Given the description of an element on the screen output the (x, y) to click on. 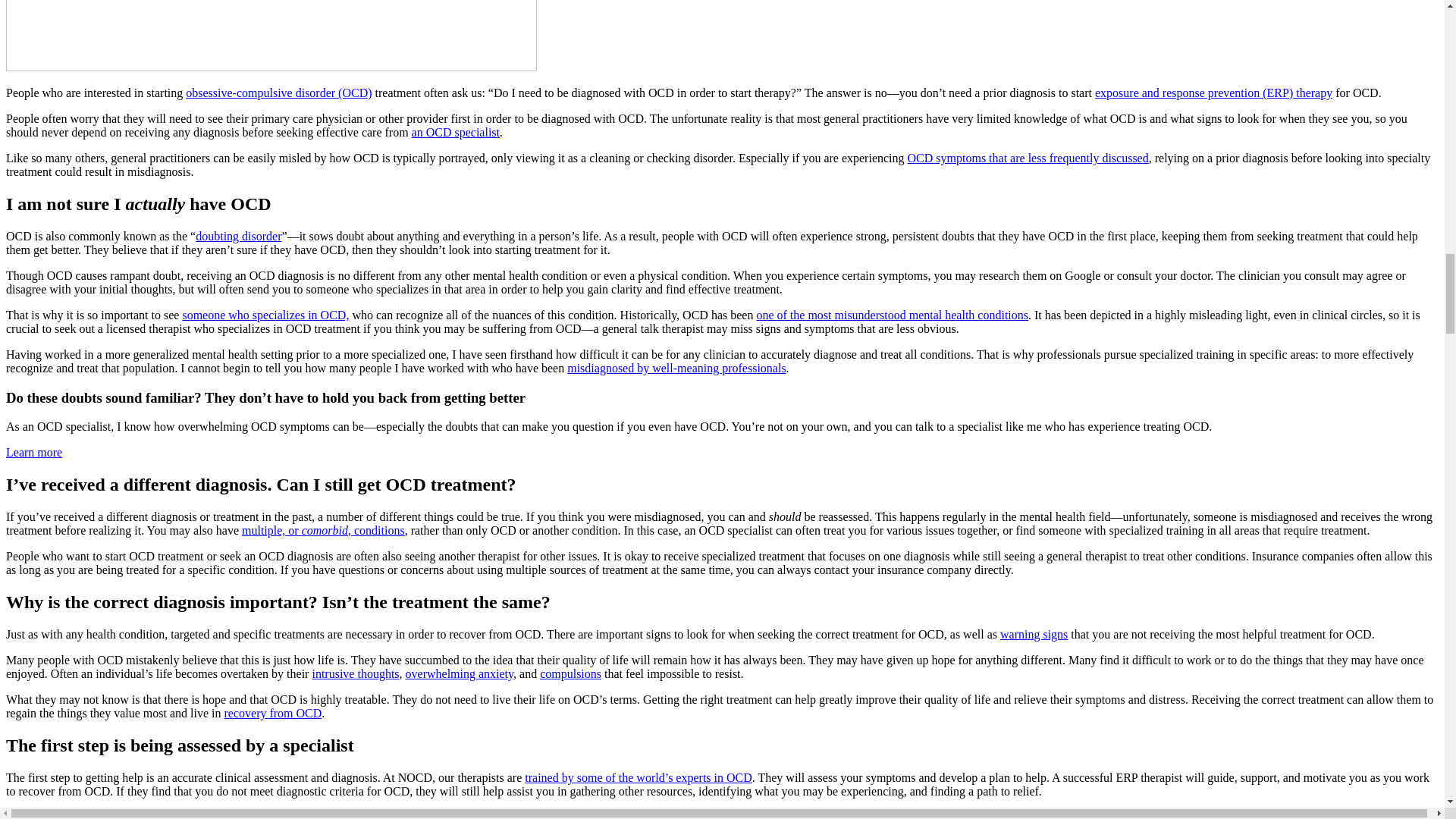
OCD symptoms that are less frequently discussed (1027, 157)
intrusive thoughts (354, 673)
doubting disorder (238, 236)
warning signs (1033, 634)
recovery from OCD (272, 712)
someone who specializes in OCD, (265, 314)
compulsions (570, 673)
Learn more (33, 451)
overwhelming anxiety (459, 673)
one of the most misunderstood mental health conditions (891, 314)
an OCD specialist (455, 132)
misdiagnosed by well-meaning professionals (676, 367)
book a free 15-minute call with our team (708, 814)
multiple, or comorbid, conditions (322, 530)
